Given the description of an element on the screen output the (x, y) to click on. 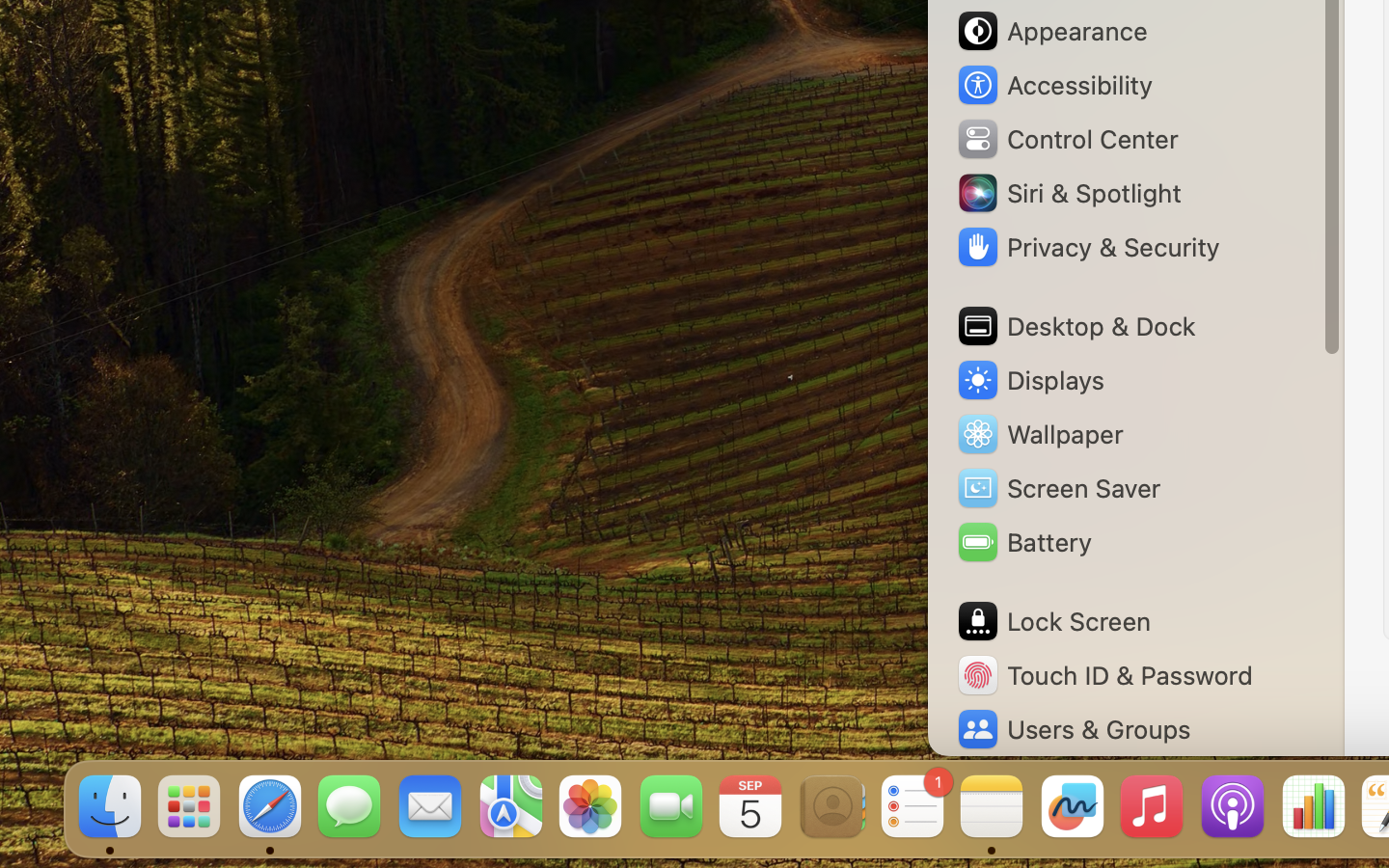
Touch ID & Password Element type: AXStaticText (1103, 674)
Screen Saver Element type: AXStaticText (1057, 487)
Displays Element type: AXStaticText (1029, 379)
Appearance Element type: AXStaticText (1050, 30)
Accessibility Element type: AXStaticText (1053, 84)
